Given the description of an element on the screen output the (x, y) to click on. 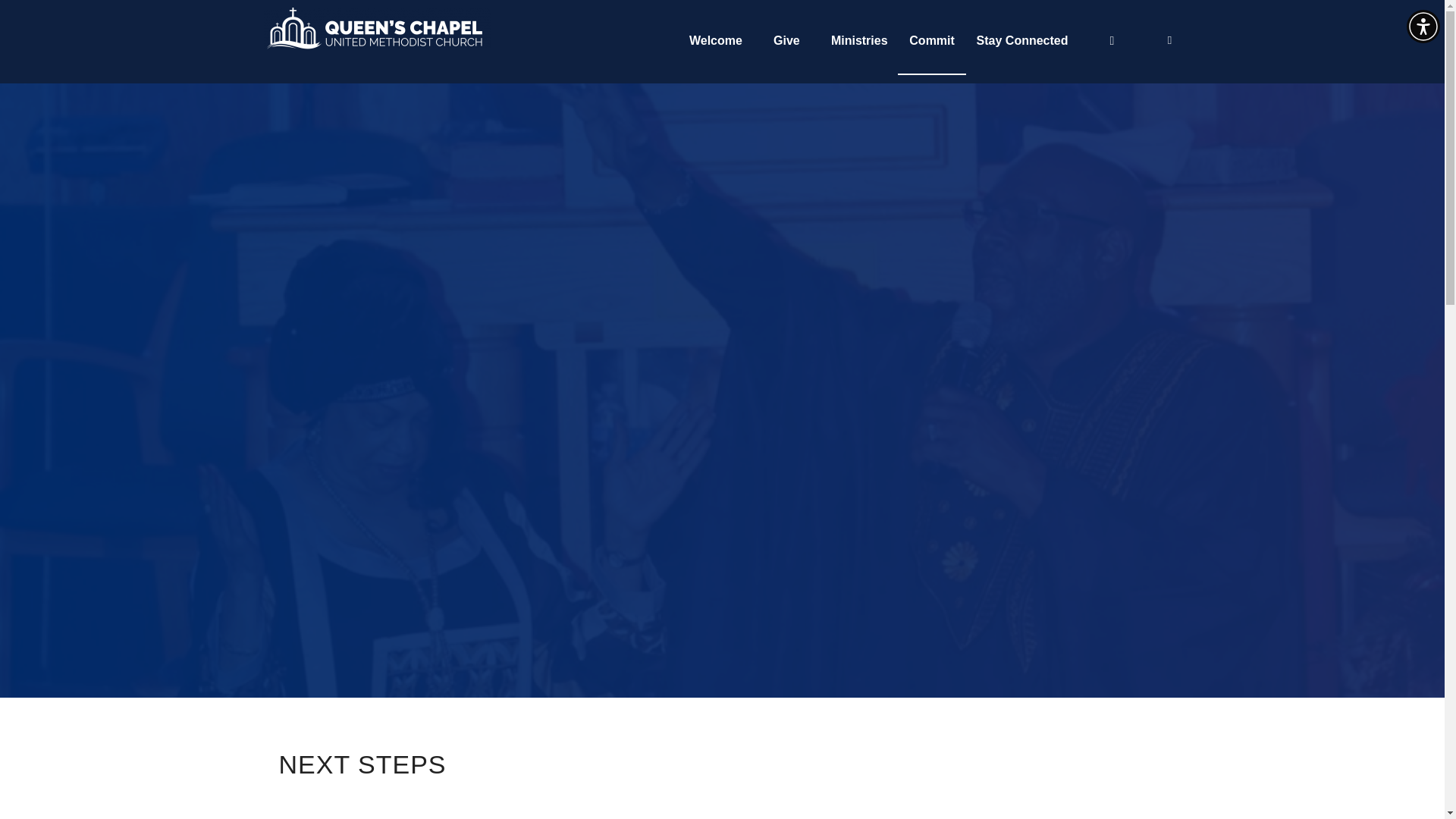
Ministries (859, 40)
Welcome (715, 40)
Commit (932, 40)
Facebook (1169, 39)
Accessibility Menu (1422, 26)
Give (786, 40)
Stay Connected (1022, 40)
